Given the description of an element on the screen output the (x, y) to click on. 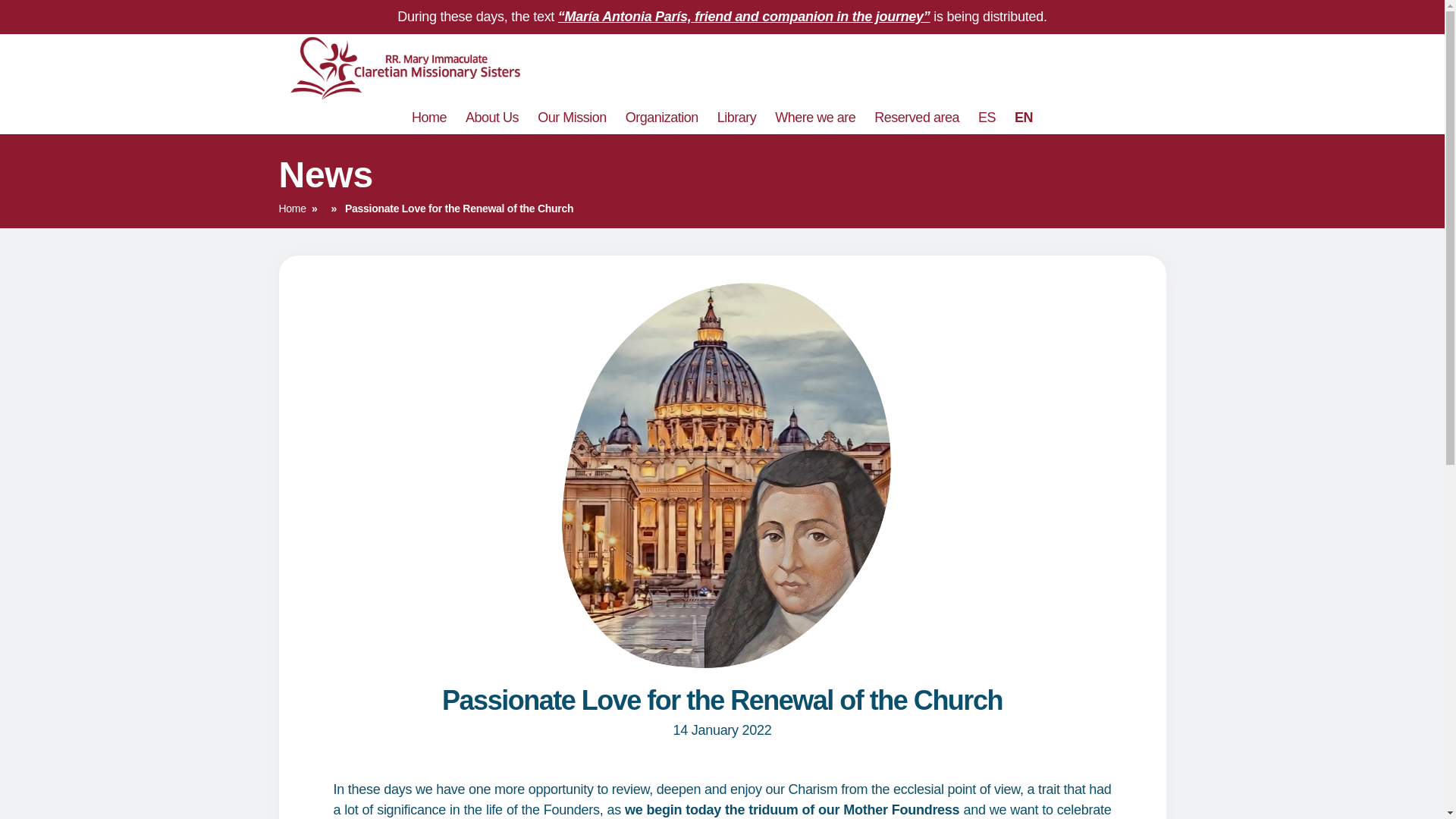
EN (1023, 117)
About Us (491, 117)
Organization (662, 117)
Where we are (815, 117)
ES (986, 117)
Our Mission (572, 117)
Reserved area (917, 117)
Library (737, 117)
Home (292, 208)
Home (429, 117)
